Given the description of an element on the screen output the (x, y) to click on. 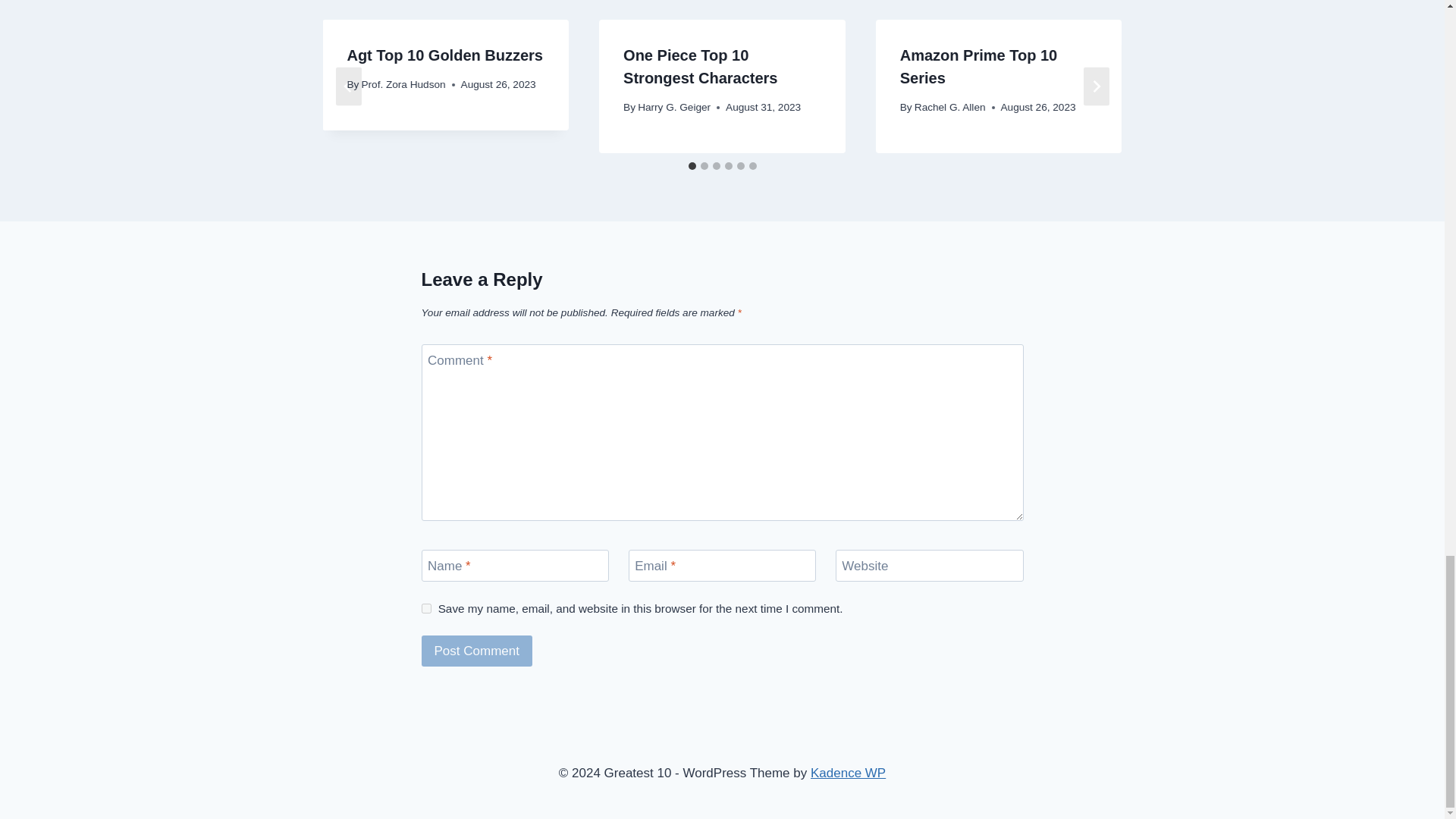
Post Comment (477, 650)
Prof. Zora Hudson (403, 84)
Agt Top 10 Golden Buzzers (444, 54)
yes (426, 608)
